Given the description of an element on the screen output the (x, y) to click on. 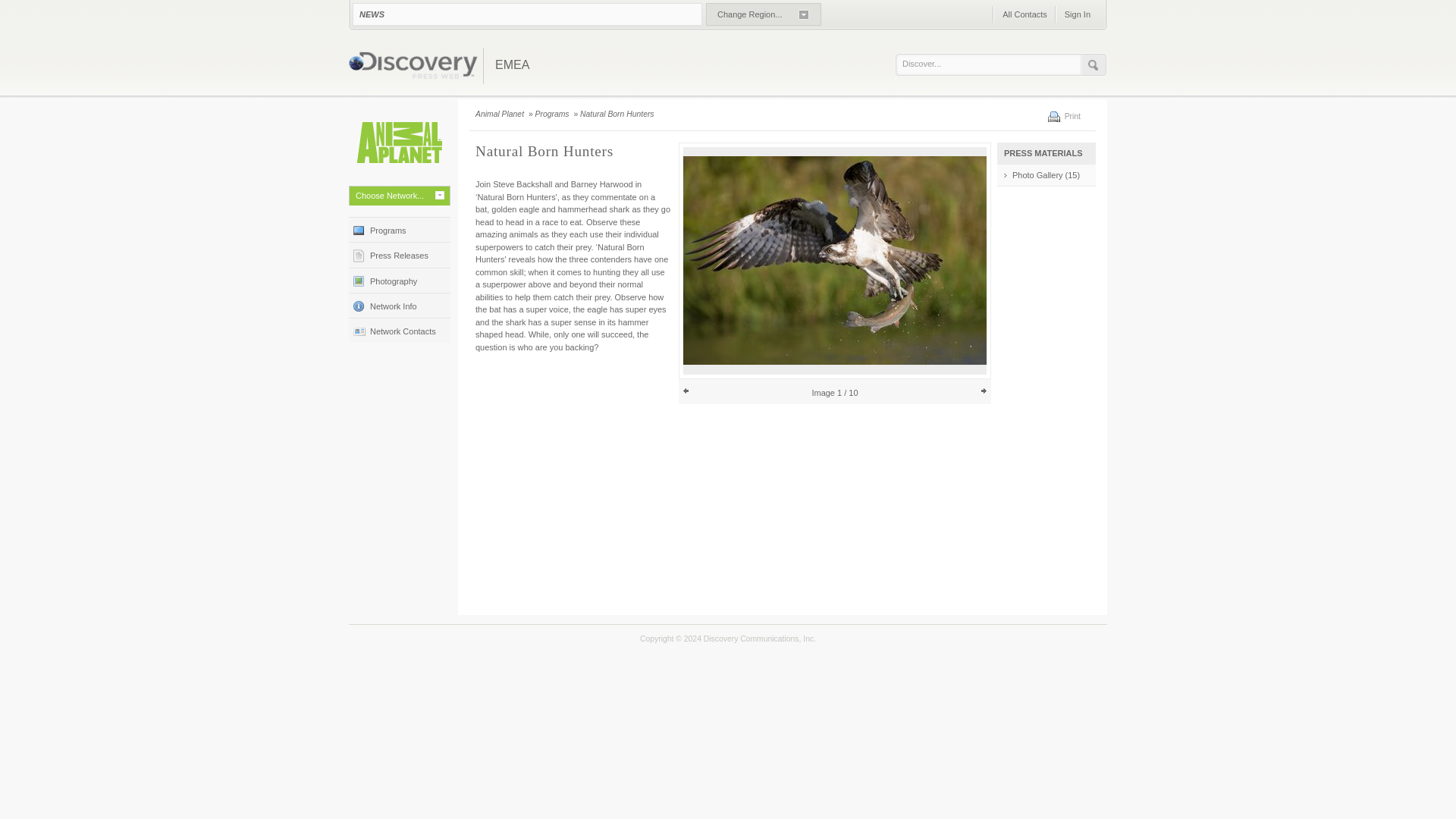
Sign In (1076, 13)
Network Contacts (399, 330)
Programs (553, 113)
Network Info (399, 304)
Press Releases (399, 253)
Animal Planet (500, 113)
All Contacts (1023, 13)
Animal Planet (399, 142)
Discovery Press Web (413, 66)
Search (1093, 64)
Discover... (991, 63)
Photography (399, 279)
Natural Born Hunters (617, 113)
Programs (399, 229)
Next (983, 391)
